Given the description of an element on the screen output the (x, y) to click on. 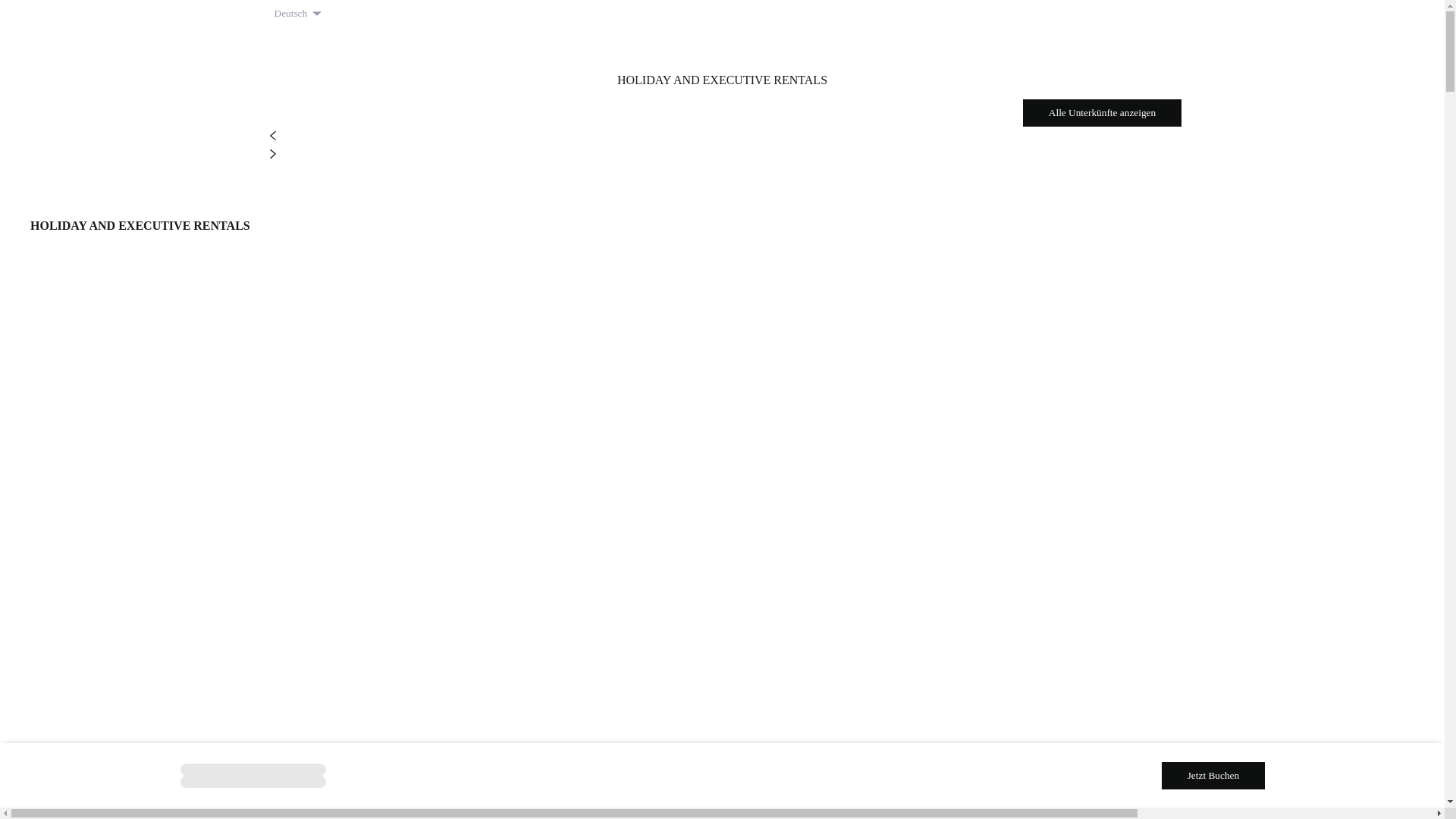
HOLIDAY AND EXECUTIVE RENTALS Element type: text (722, 60)
Jetzt Buchen Element type: text (1212, 774)
Deutsch Element type: text (298, 13)
HOLIDAY AND EXECUTIVE RENTALS Element type: text (140, 205)
